Given the description of an element on the screen output the (x, y) to click on. 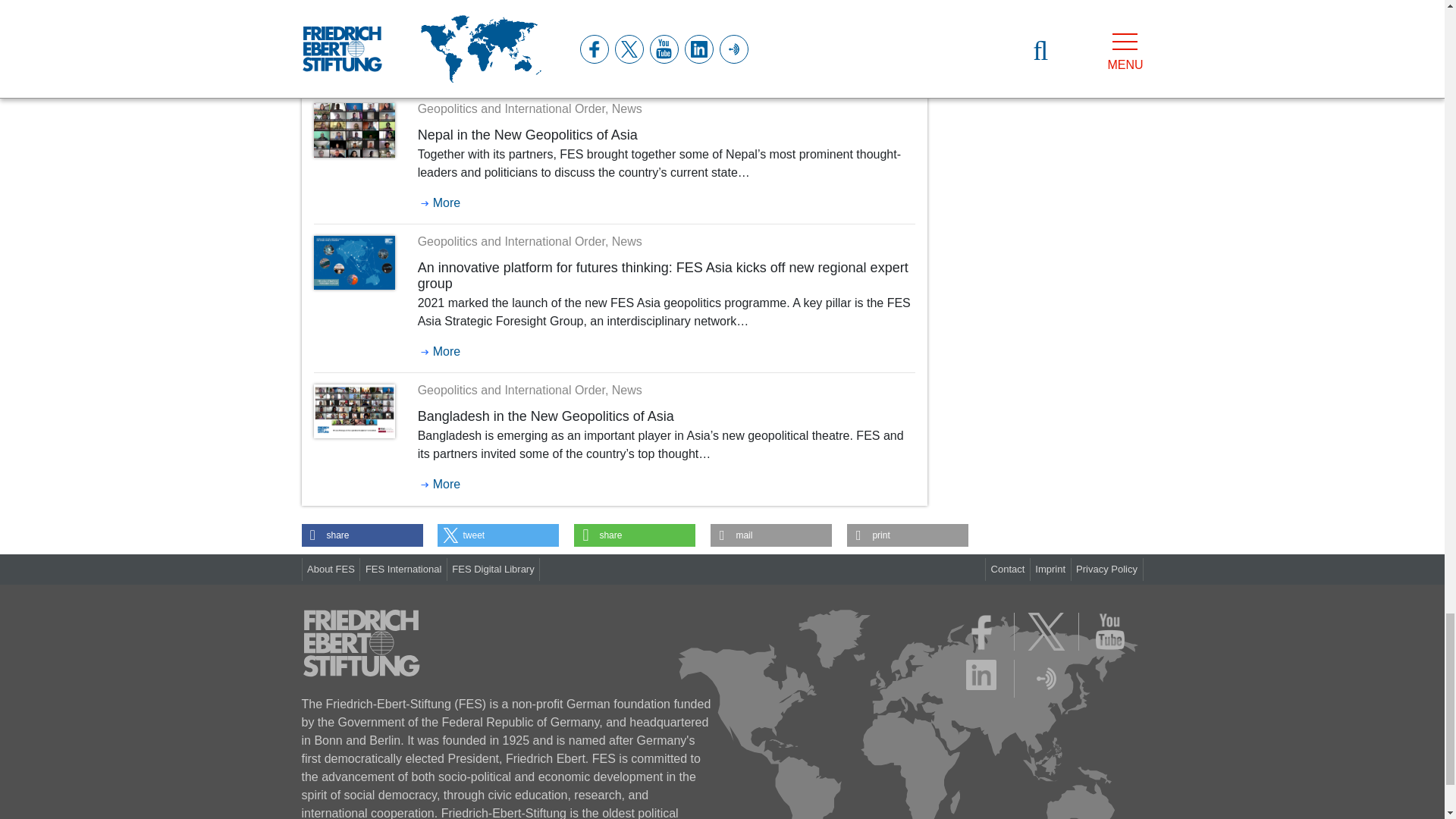
FES Nepal National Lab Day 2 3 2 (354, 130)
Share on Twitter (498, 535)
Fes asia geopolitics bangladesh lab participants 211103 3.2 (354, 411)
IStock 626815916 (354, 12)
Share on Facebook (362, 535)
Fes asia inaugural lab 211210 1500 x 1000 px  (354, 262)
